Given the description of an element on the screen output the (x, y) to click on. 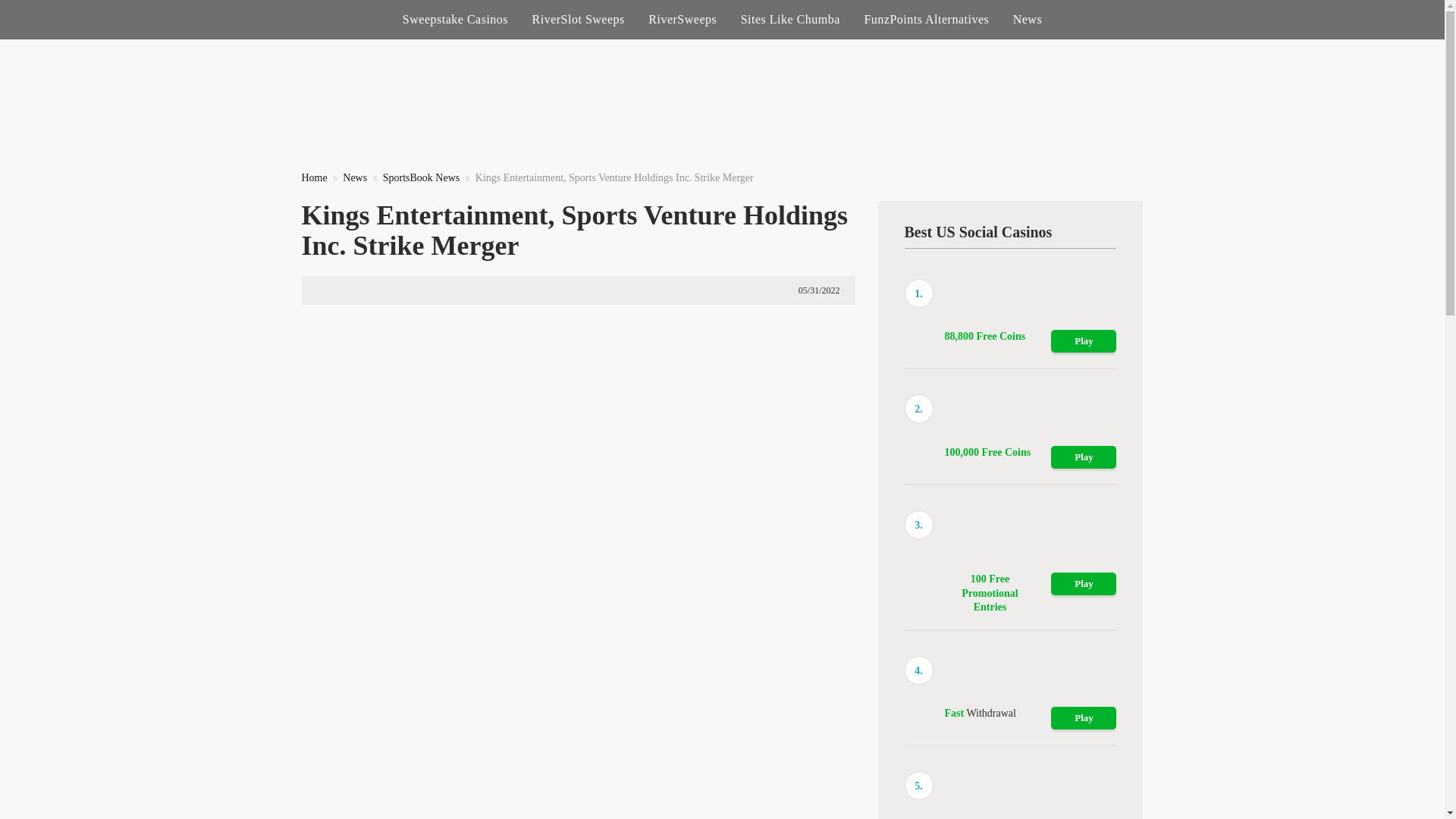
SportsBook News (421, 177)
Play (1083, 717)
Play (1083, 456)
Play (1083, 583)
Sweepstake Casinos (455, 19)
RiverSlot Sweeps (578, 19)
News (354, 177)
Home (314, 177)
Home (314, 177)
Play (1083, 341)
SportsBook News (421, 177)
FunzPoints Alternatives (925, 19)
Sites Like Chumba (790, 19)
RiverSweeps (681, 19)
